Given the description of an element on the screen output the (x, y) to click on. 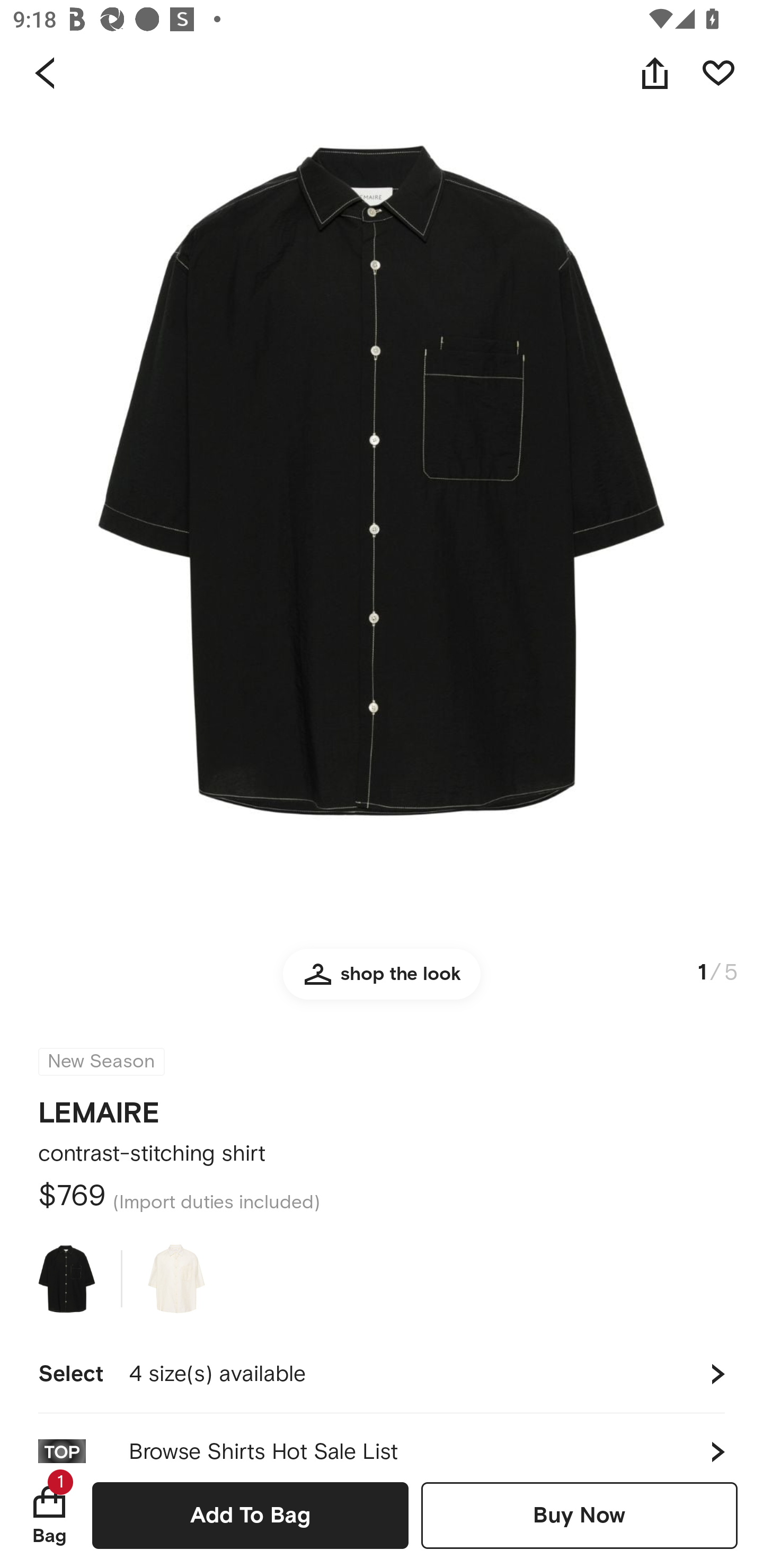
shop the look (381, 982)
LEMAIRE (98, 1107)
Select 4 size(s) available (381, 1373)
Browse Shirts Hot Sale List (381, 1438)
Bag 1 (49, 1515)
Add To Bag (250, 1515)
Buy Now (579, 1515)
